Given the description of an element on the screen output the (x, y) to click on. 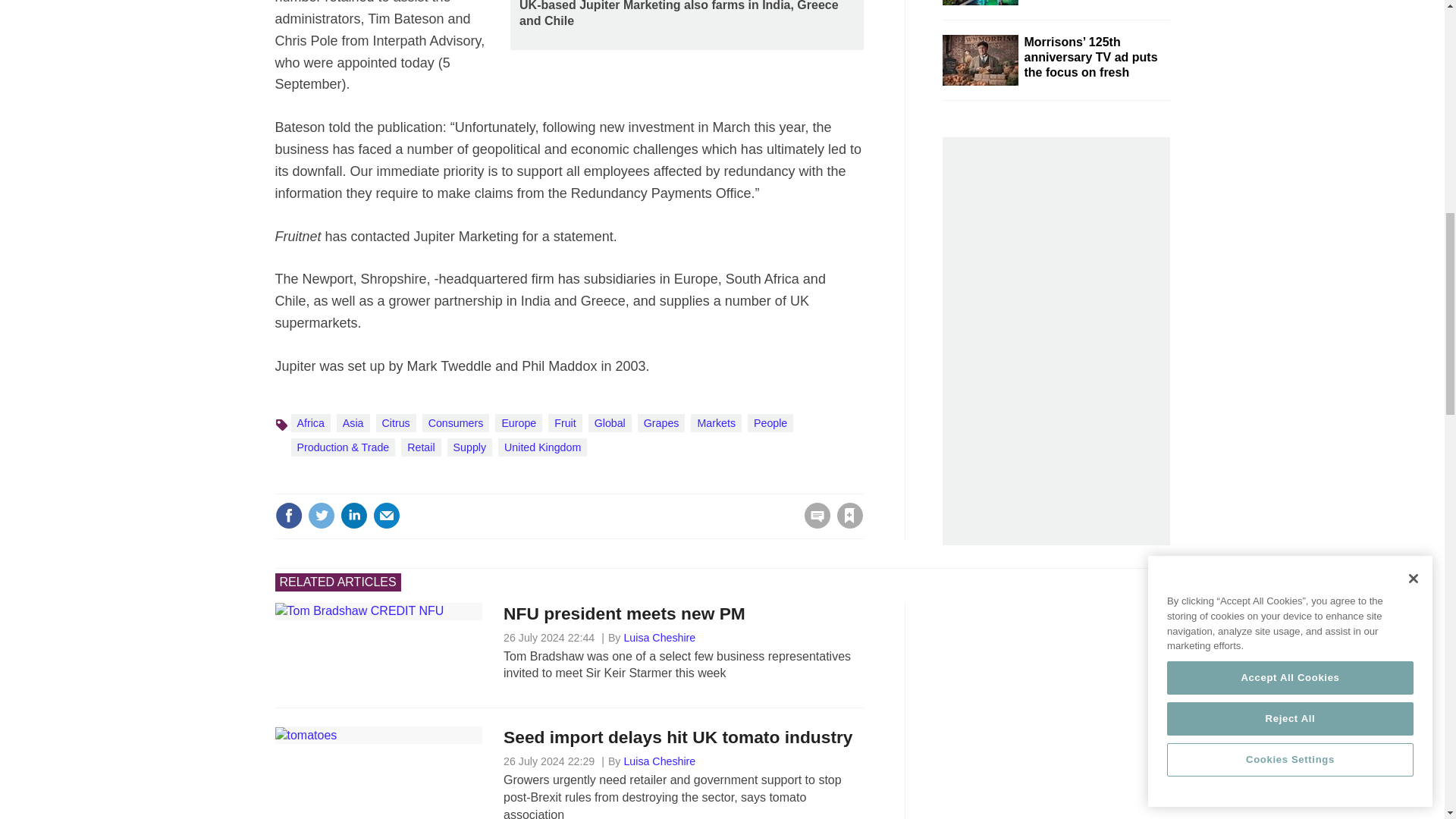
Share this on Facebook (288, 515)
Share this on Linked in (352, 515)
Email this article (386, 515)
No comments (812, 524)
Share this on Twitter (320, 515)
